Given the description of an element on the screen output the (x, y) to click on. 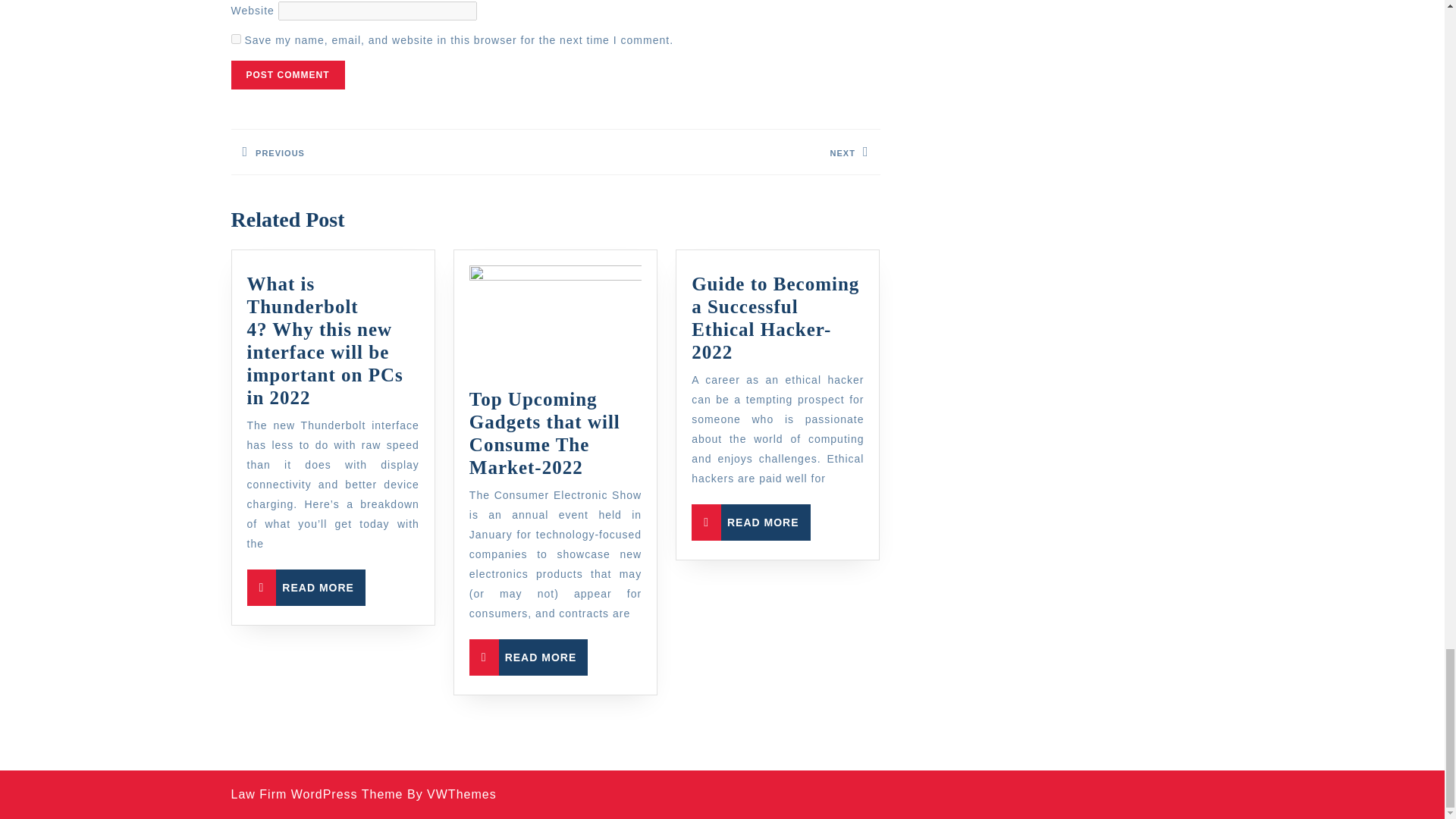
yes (528, 657)
Post Comment (235, 39)
Post Comment (392, 151)
